Given the description of an element on the screen output the (x, y) to click on. 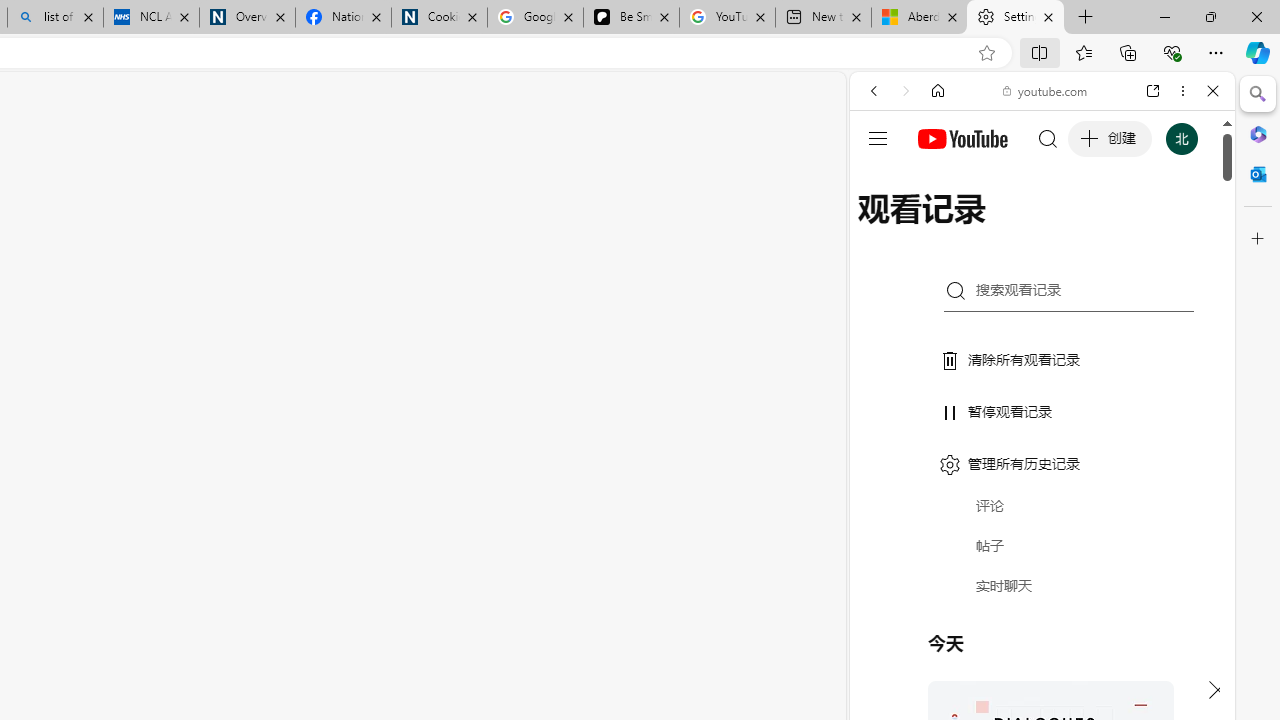
Music (1042, 543)
Show More Music (1164, 546)
Web scope (882, 180)
VIDEOS (1006, 228)
Search Filter, Search Tools (1093, 228)
#you (1042, 445)
Close Outlook pane (1258, 174)
